Given the description of an element on the screen output the (x, y) to click on. 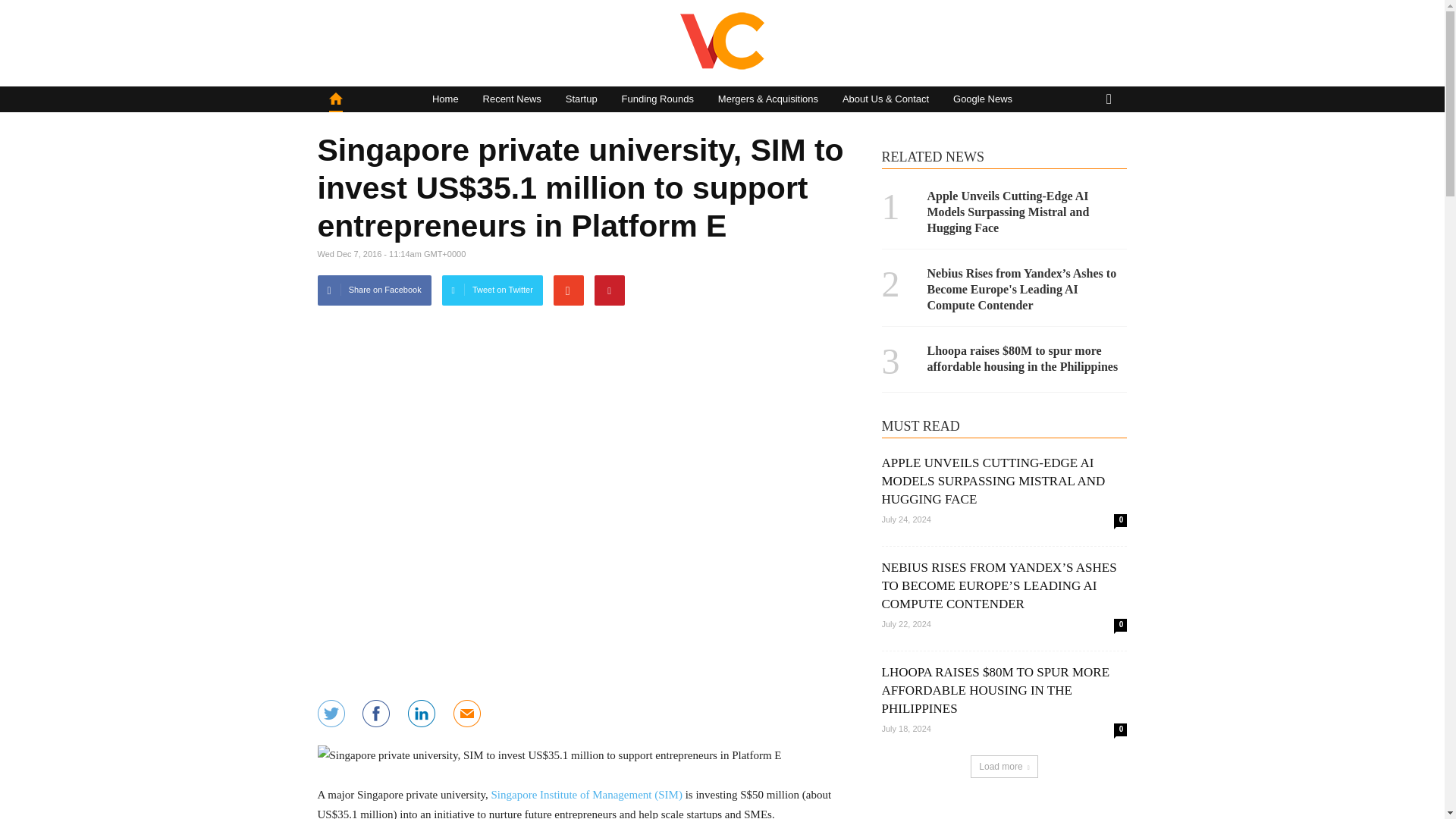
VCNN (722, 67)
Home (445, 99)
Startup (581, 99)
Share on Facebook (373, 290)
Google News (982, 99)
Funding Rounds (657, 99)
Tweet on Twitter (492, 290)
Recent News (511, 99)
